Given the description of an element on the screen output the (x, y) to click on. 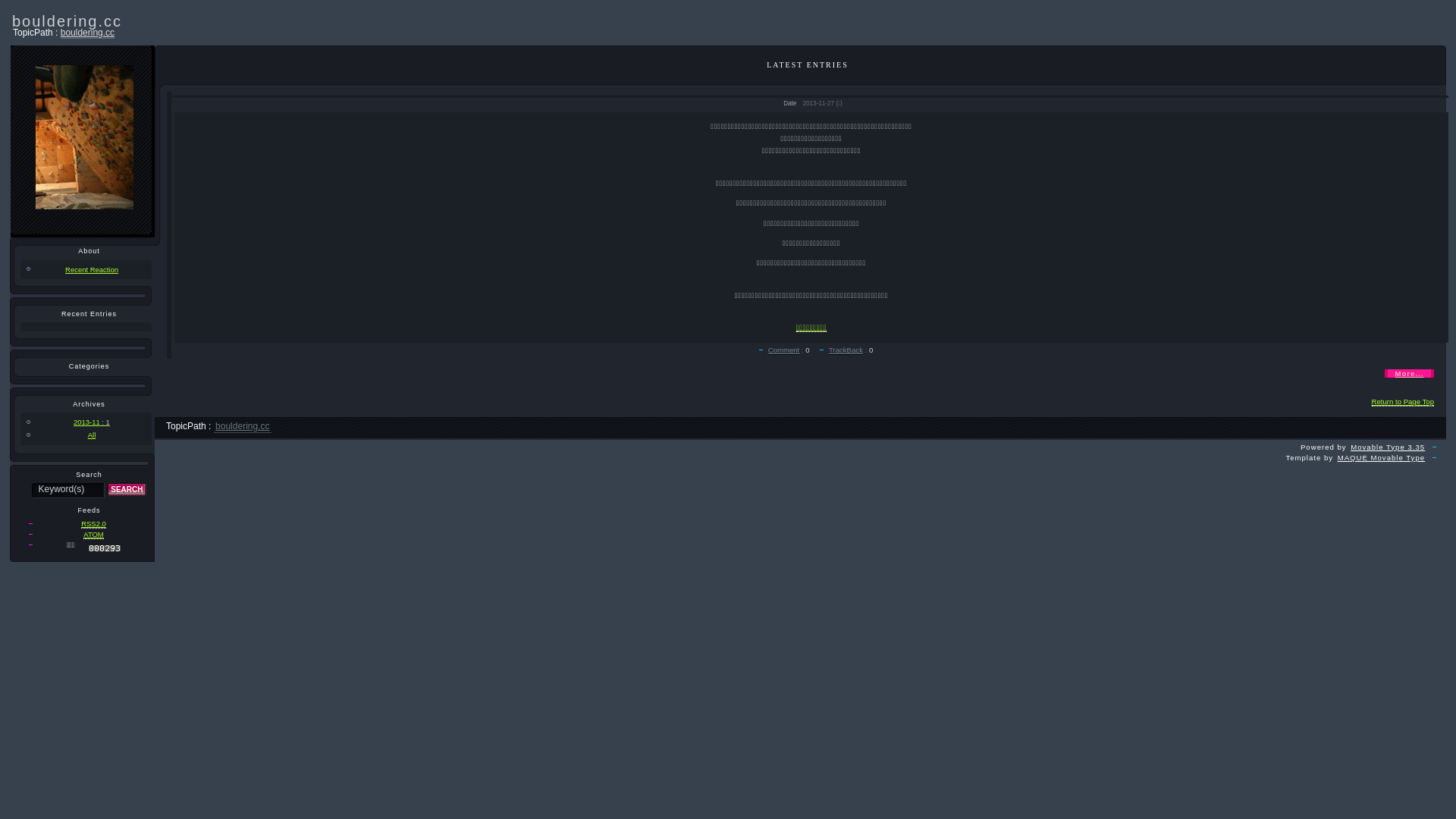
TrackBack Element type: text (845, 349)
2013-11 : 1 Element type: text (85, 421)
Recent Reaction Element type: text (85, 268)
bouldering.cc Element type: text (242, 426)
ATOM Element type: text (93, 534)
More... Element type: text (1409, 373)
Return to Page Top Element type: text (1402, 401)
Search Element type: text (126, 489)
MAQUE Movable Type Element type: text (1381, 457)
RSS2.0 Element type: text (93, 523)
All Element type: text (85, 434)
bouldering.cc Element type: text (87, 32)
Movable Type 3.35 Element type: text (1387, 447)
Comment Element type: text (784, 349)
